Given the description of an element on the screen output the (x, y) to click on. 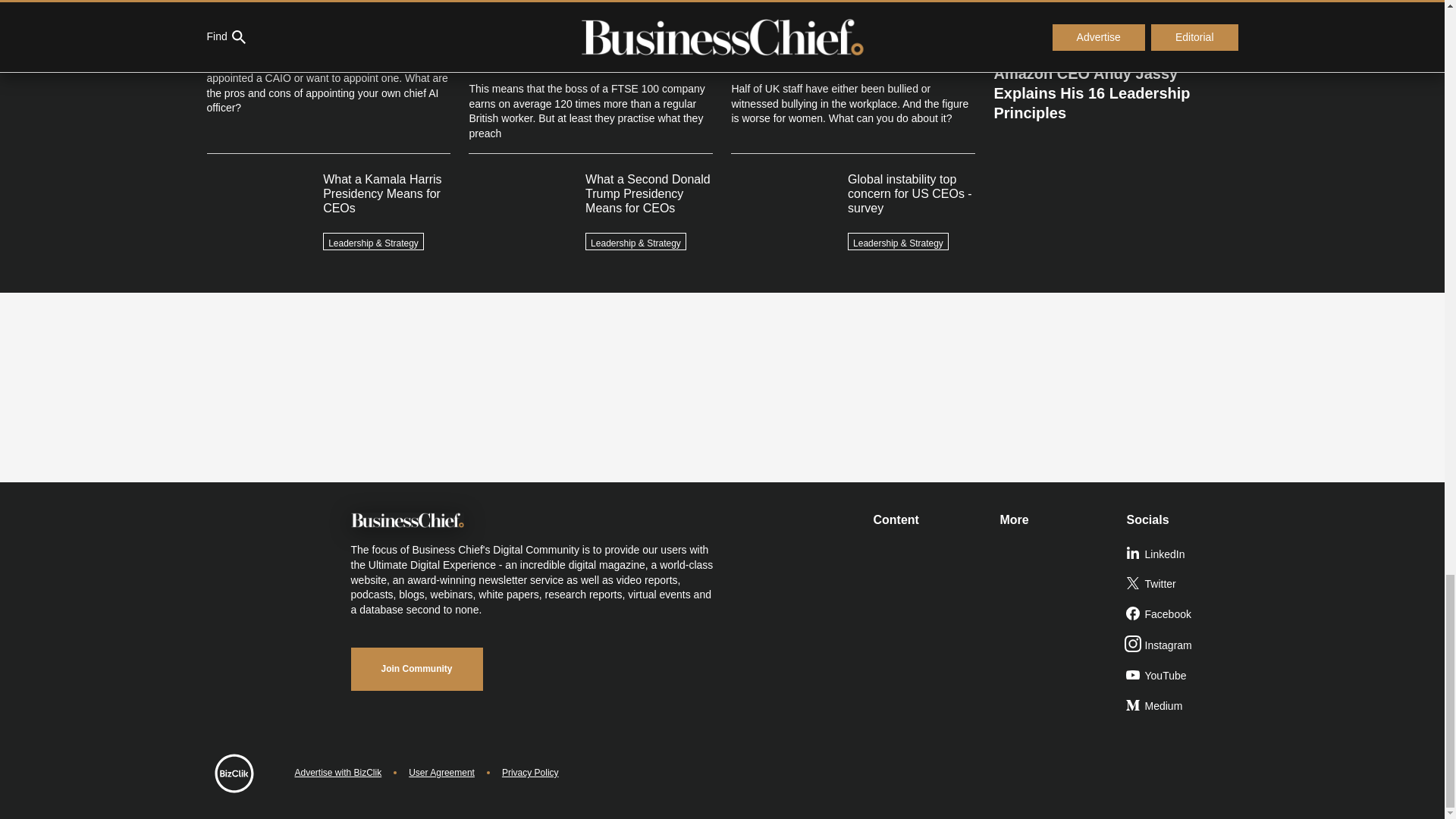
Join Community (415, 669)
Facebook (1182, 614)
Twitter (1182, 584)
Amazon CEO Andy Jassy Explains His 16 Leadership Principles (1114, 86)
LinkedIn (1182, 554)
